Given the description of an element on the screen output the (x, y) to click on. 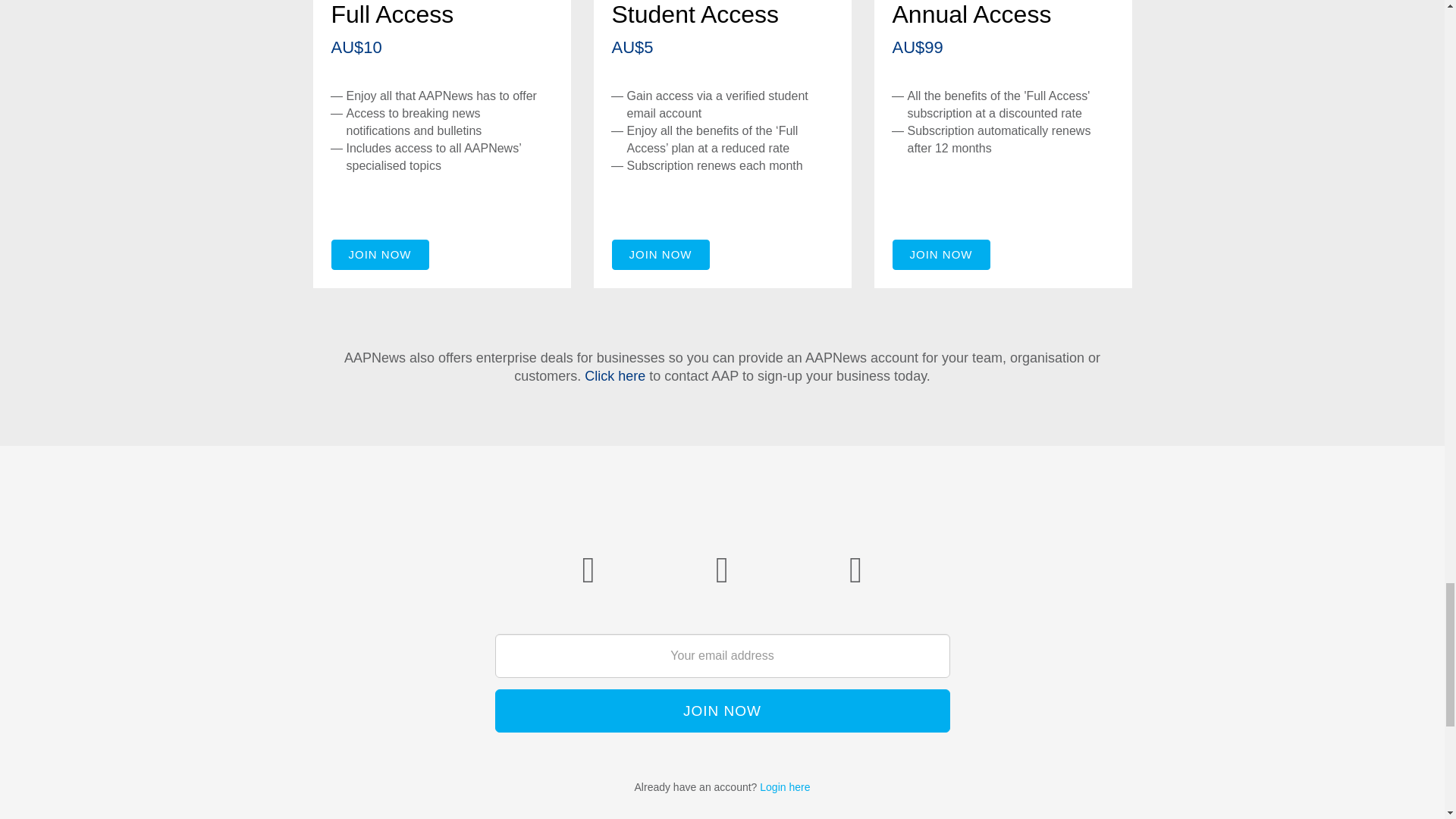
JOIN NOW (722, 710)
JOIN NOW (940, 254)
JOIN NOW (379, 254)
Click here (615, 376)
Login here (784, 787)
JOIN NOW (660, 254)
